Given the description of an element on the screen output the (x, y) to click on. 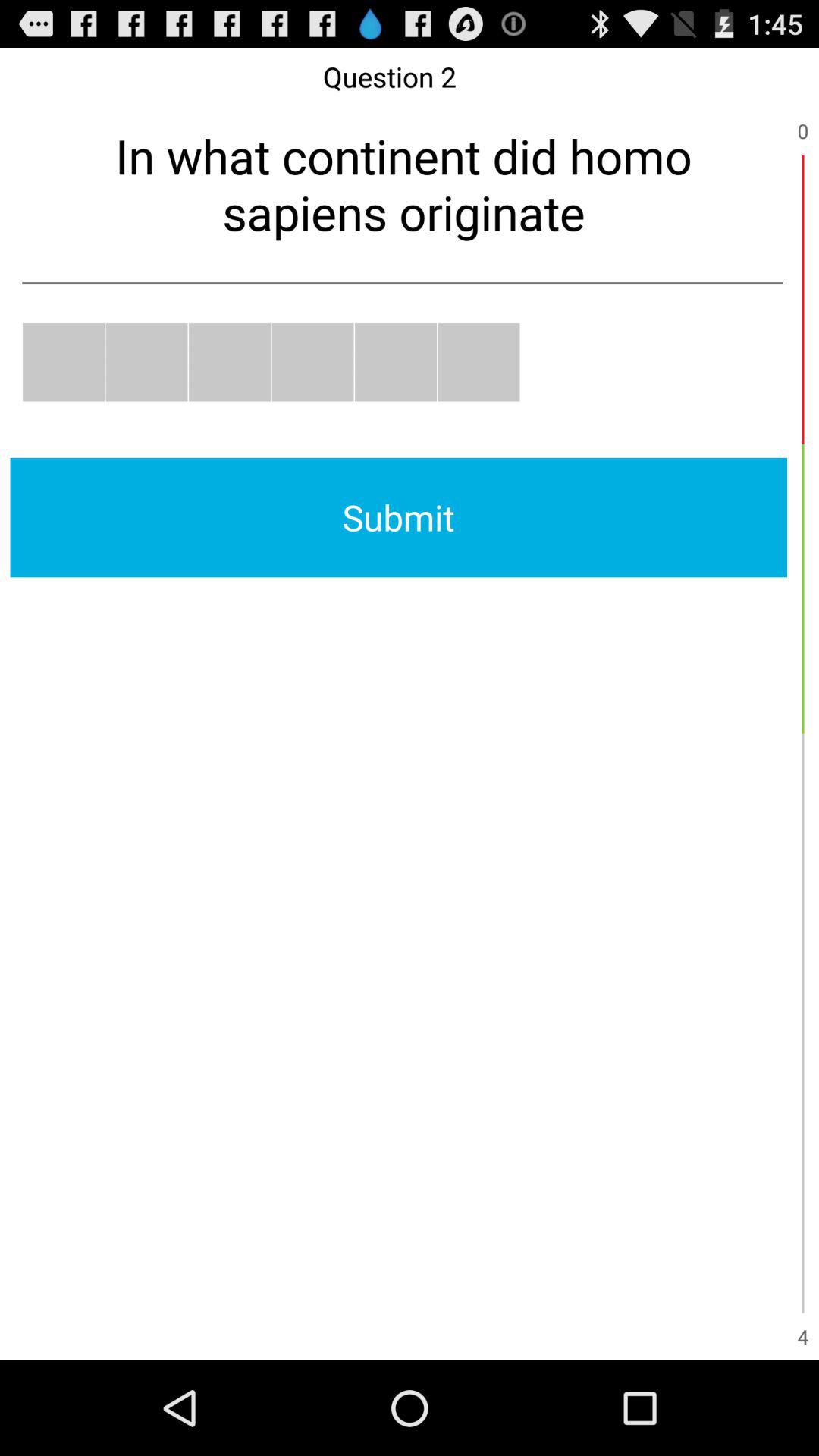
launch icon below the 0 item (802, 299)
